Given the description of an element on the screen output the (x, y) to click on. 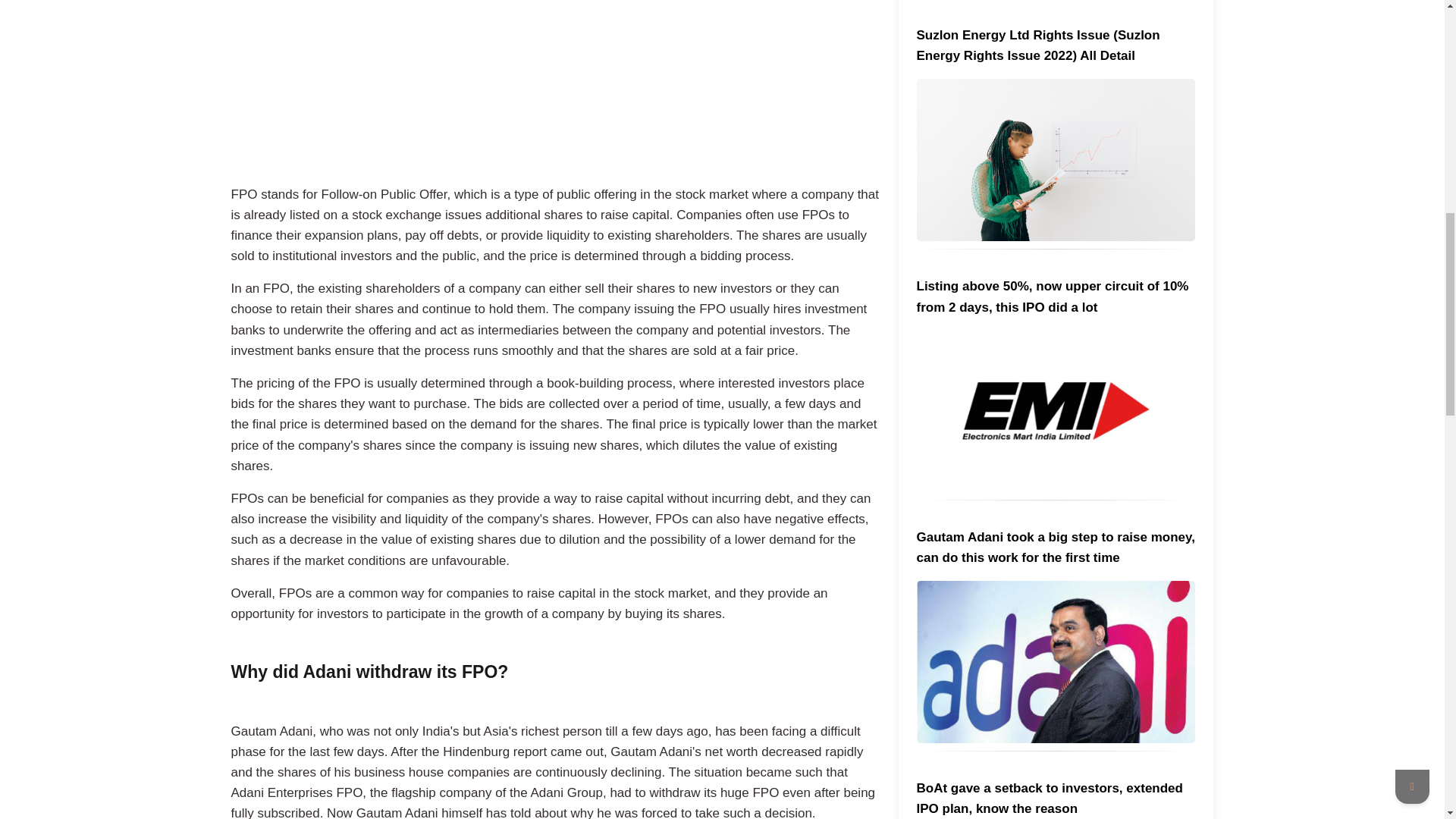
Advertisement (554, 89)
